Given the description of an element on the screen output the (x, y) to click on. 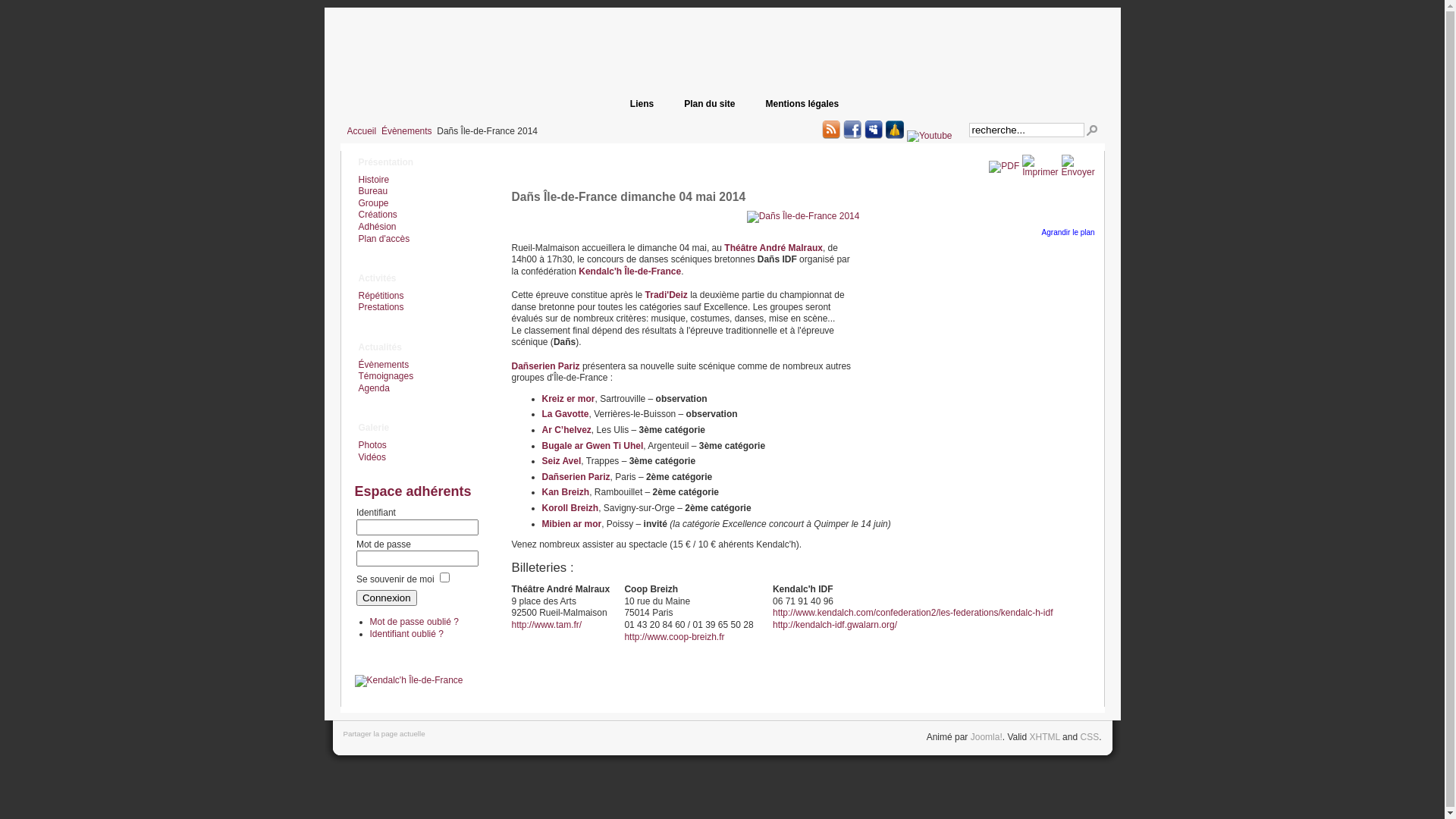
Bureau Element type: text (371, 190)
Agenda Element type: text (371, 387)
Plan du site Element type: text (708, 103)
Photos Element type: text (370, 444)
Accueil Element type: text (361, 130)
Envoyer Element type: hover (1078, 171)
Seiz Avel Element type: text (560, 460)
Mibien ar mor Element type: text (571, 523)
http://www.coop-breizh.fr Element type: text (674, 636)
http://kendalch-idf.gwalarn.org/ Element type: text (834, 624)
Bugale ar Gwen Ti Uhel Element type: text (592, 445)
Histoire Element type: text (371, 179)
Kreiz er mor Element type: text (567, 398)
Joomla! Element type: text (986, 736)
Imprimer Element type: hover (1039, 171)
Koroll Breizh Element type: text (569, 507)
Liens Element type: text (641, 103)
Partager la page actuelle Element type: text (383, 733)
Connexion Element type: text (386, 597)
Groupe Element type: text (371, 202)
CSS Element type: text (1088, 736)
La Gavotte Element type: text (564, 413)
XHTML Element type: text (1044, 736)
Agrandir le plan Element type: text (1068, 232)
Suivez-nous sur Dailymotion Element type: hover (894, 129)
Suivez-nous sur Youtube Element type: hover (929, 136)
Suivez-nous sur Facebook Element type: hover (852, 129)
Suivez-nous sur Myspace Element type: hover (873, 129)
Tradi'Deiz Element type: text (666, 294)
PDF Element type: hover (1003, 165)
http://www.tam.fr/ Element type: text (546, 624)
Prestations Element type: text (379, 306)
Recherche Element type: text (1091, 130)
Kan Breizh Element type: text (565, 491)
